Given the description of an element on the screen output the (x, y) to click on. 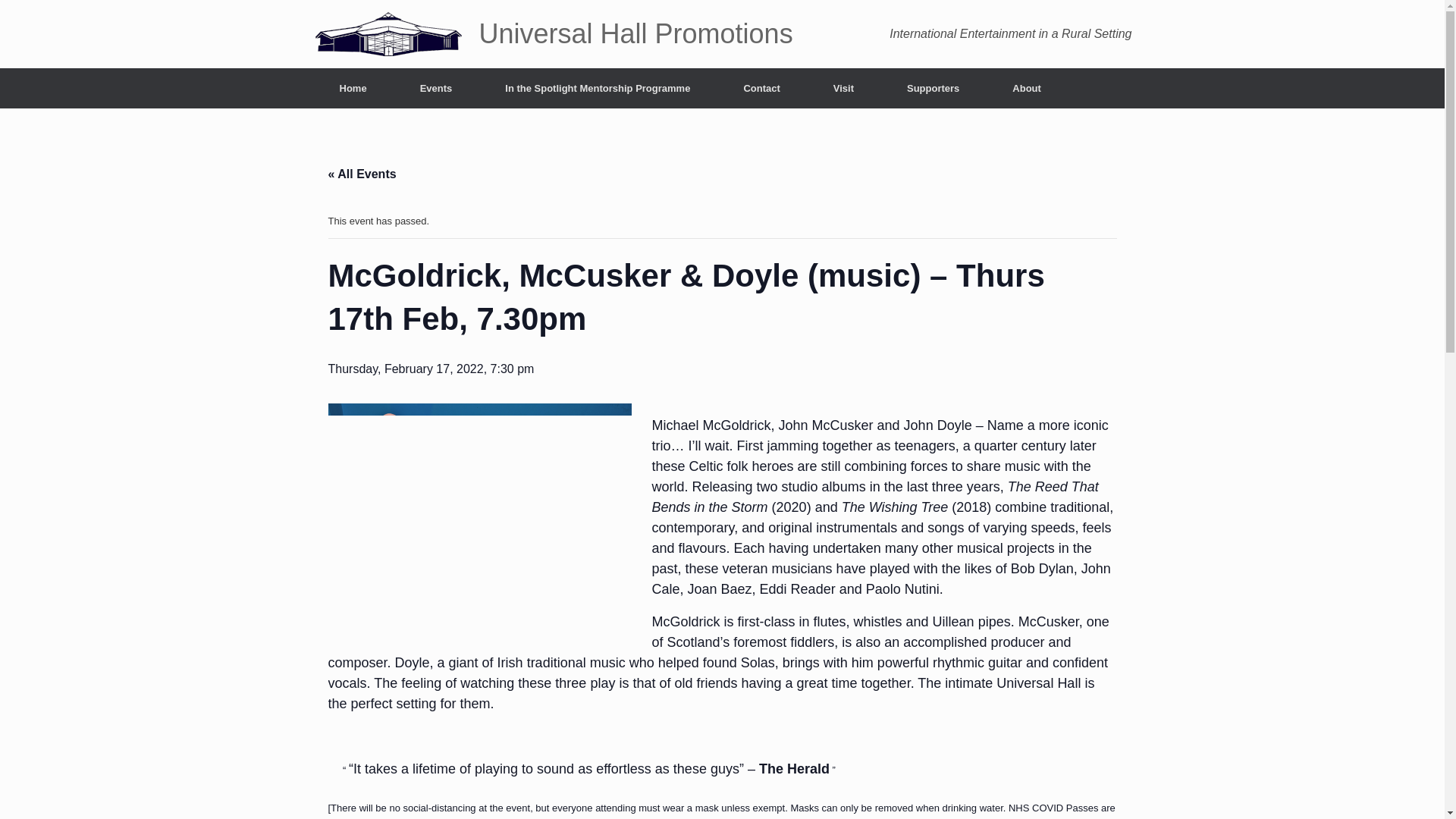
Universal Hall Promotions (552, 33)
Home (353, 87)
Contact (761, 87)
Universal Hall Promotions (552, 33)
In the Spotlight Mentorship Programme (597, 87)
Supporters (932, 87)
Visit (843, 87)
About (1026, 87)
Events (436, 87)
